Given the description of an element on the screen output the (x, y) to click on. 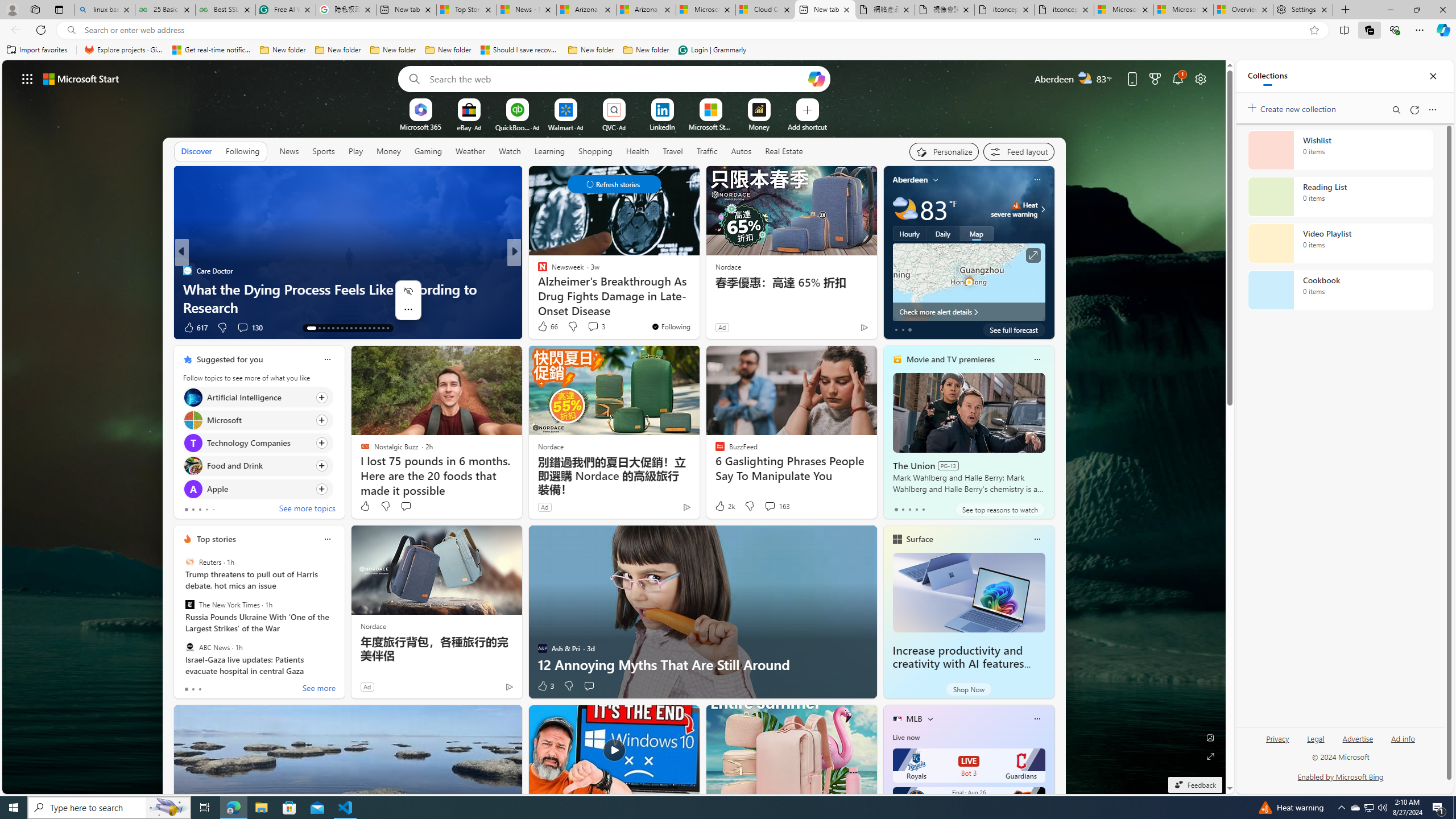
Click to see more information (1033, 255)
LinkedIn (662, 126)
Wishlist collection, 0 items (1339, 150)
AutomationID: tab-22 (355, 328)
AutomationID: backgroundImagePicture (613, 426)
More options menu (1432, 109)
Top stories (215, 538)
Click to follow topic Technology Companies (257, 442)
Hide menu (408, 290)
Shop Now (968, 689)
Should I save recovered Word documents? - Microsoft Support (519, 49)
68 Like (543, 327)
